Given the description of an element on the screen output the (x, y) to click on. 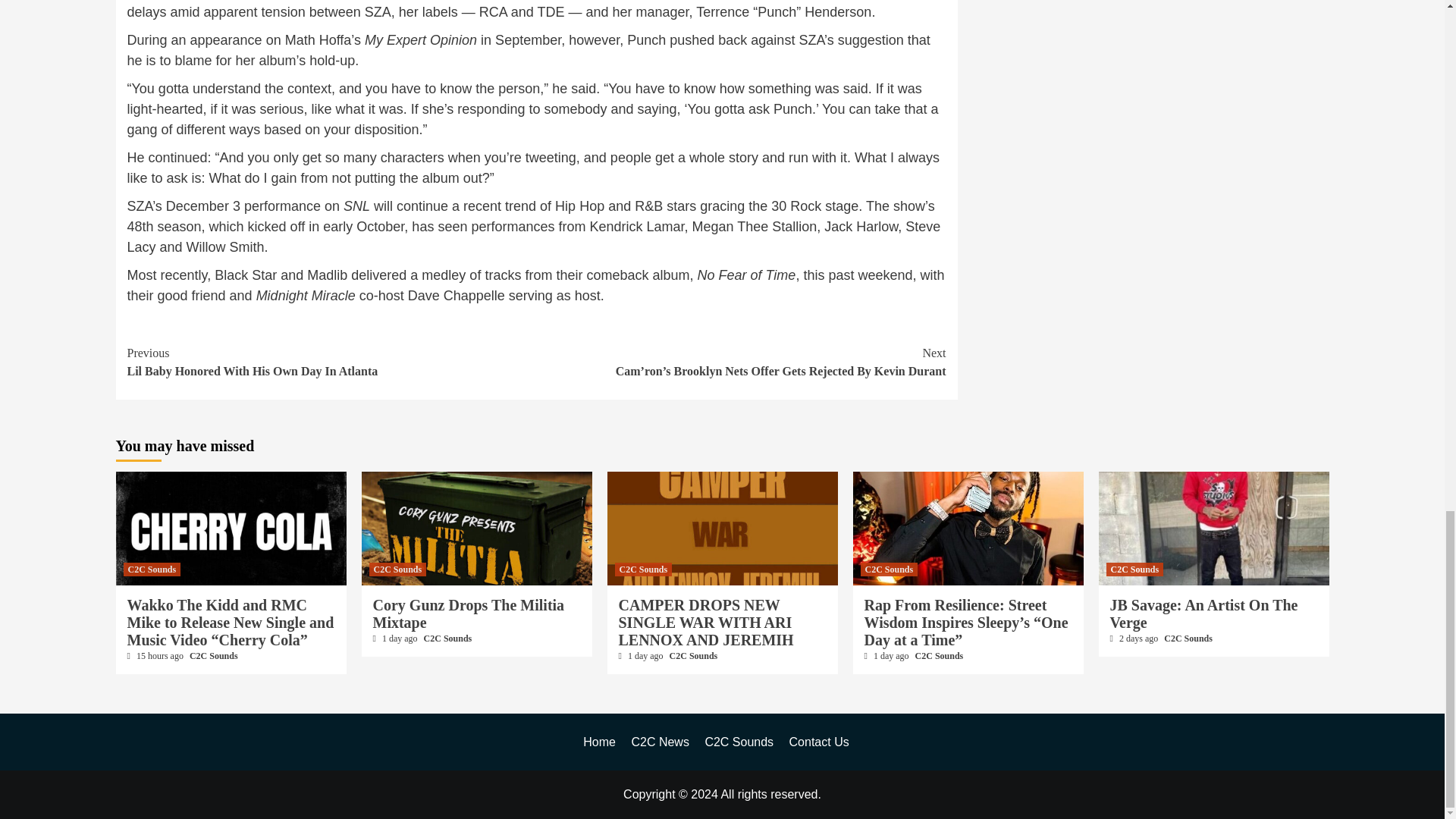
C2C Sounds (213, 655)
C2C Sounds (332, 361)
C2C Sounds (151, 569)
C2C Sounds (447, 638)
Cory Gunz Drops The Militia Mixtape (397, 569)
